Given the description of an element on the screen output the (x, y) to click on. 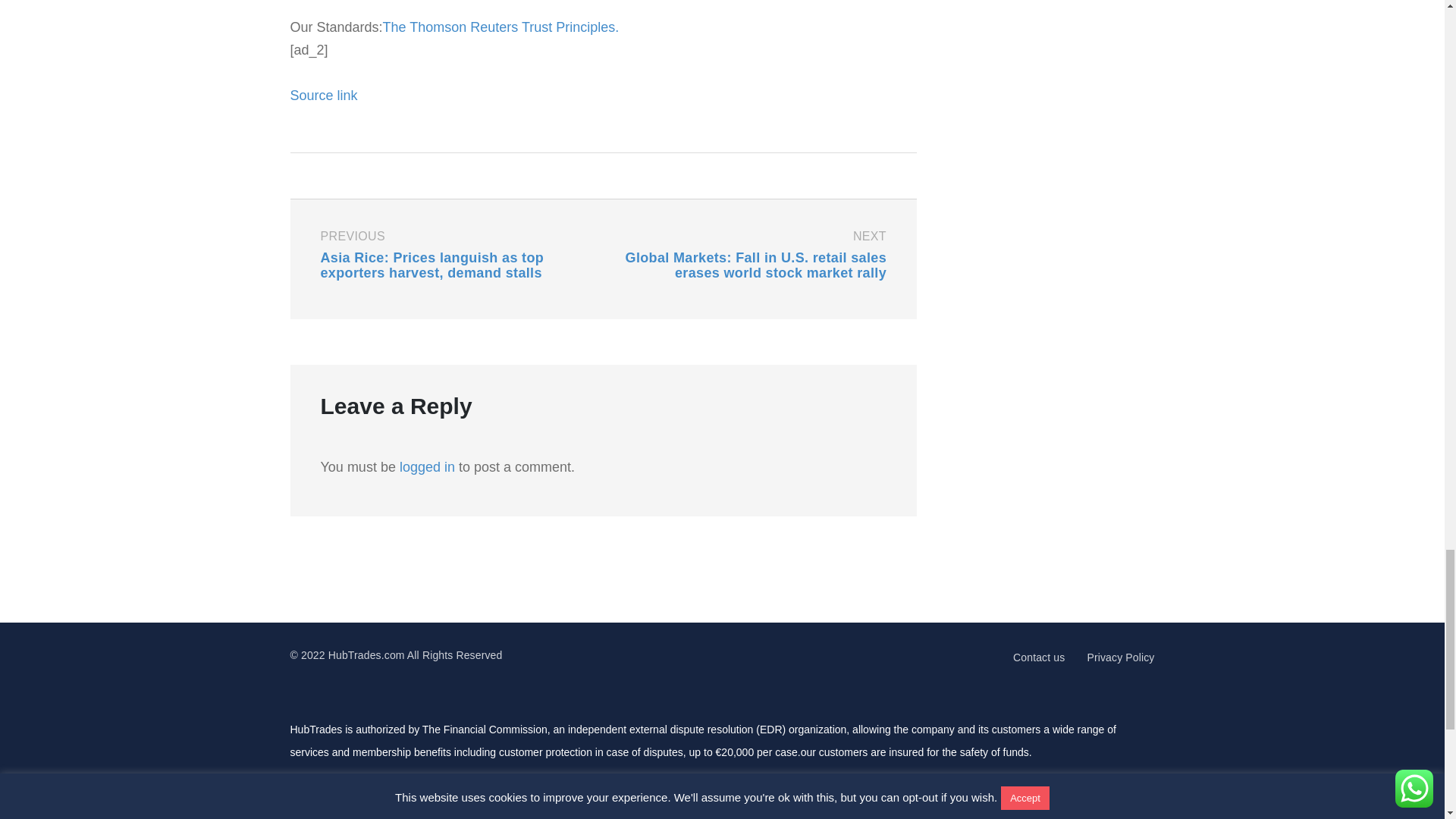
Source link (322, 95)
The Thomson Reuters Trust Principles. (501, 27)
logged in (426, 467)
